Given the description of an element on the screen output the (x, y) to click on. 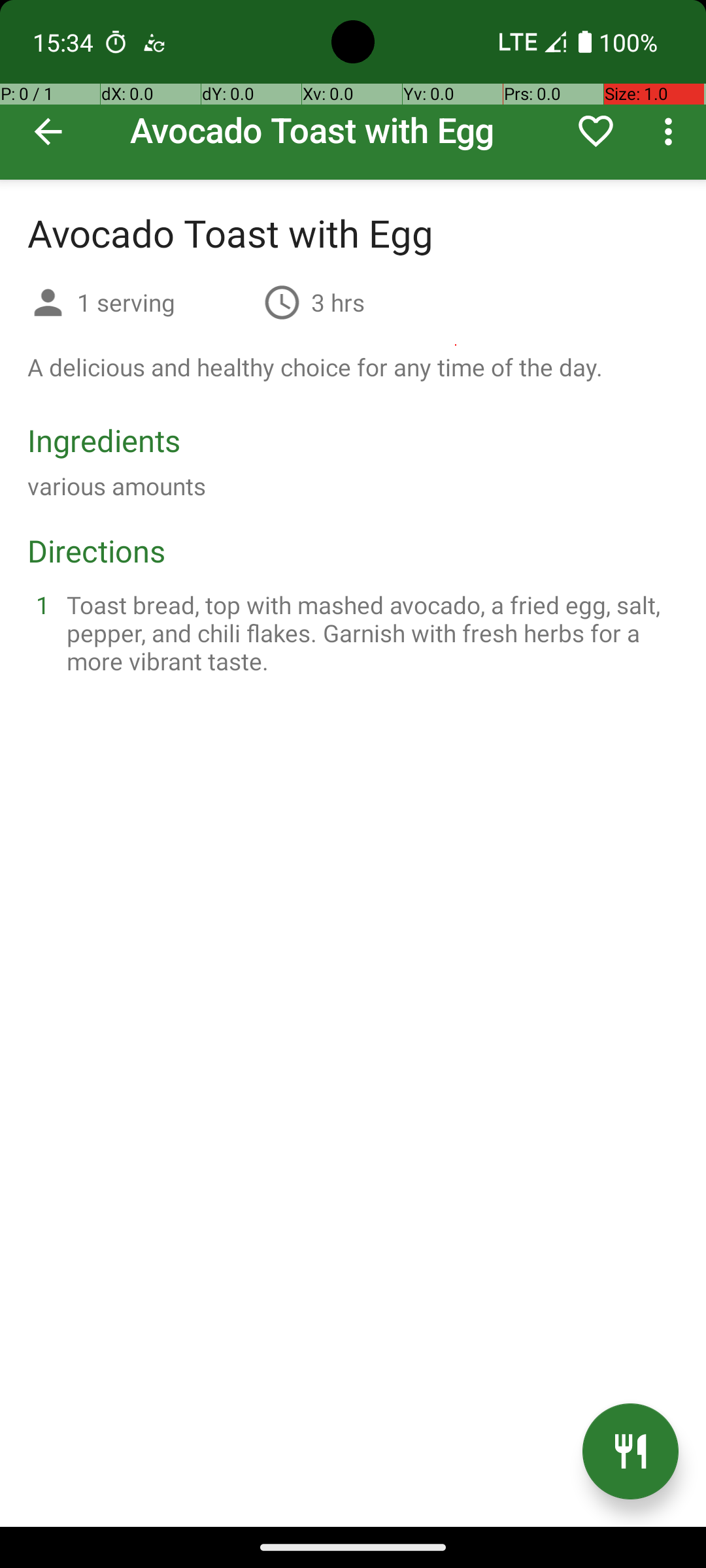
Toast bread, top with mashed avocado, a fried egg, salt, pepper, and chili flakes. Garnish with fresh herbs for a more vibrant taste. Element type: android.widget.TextView (368, 632)
